Given the description of an element on the screen output the (x, y) to click on. 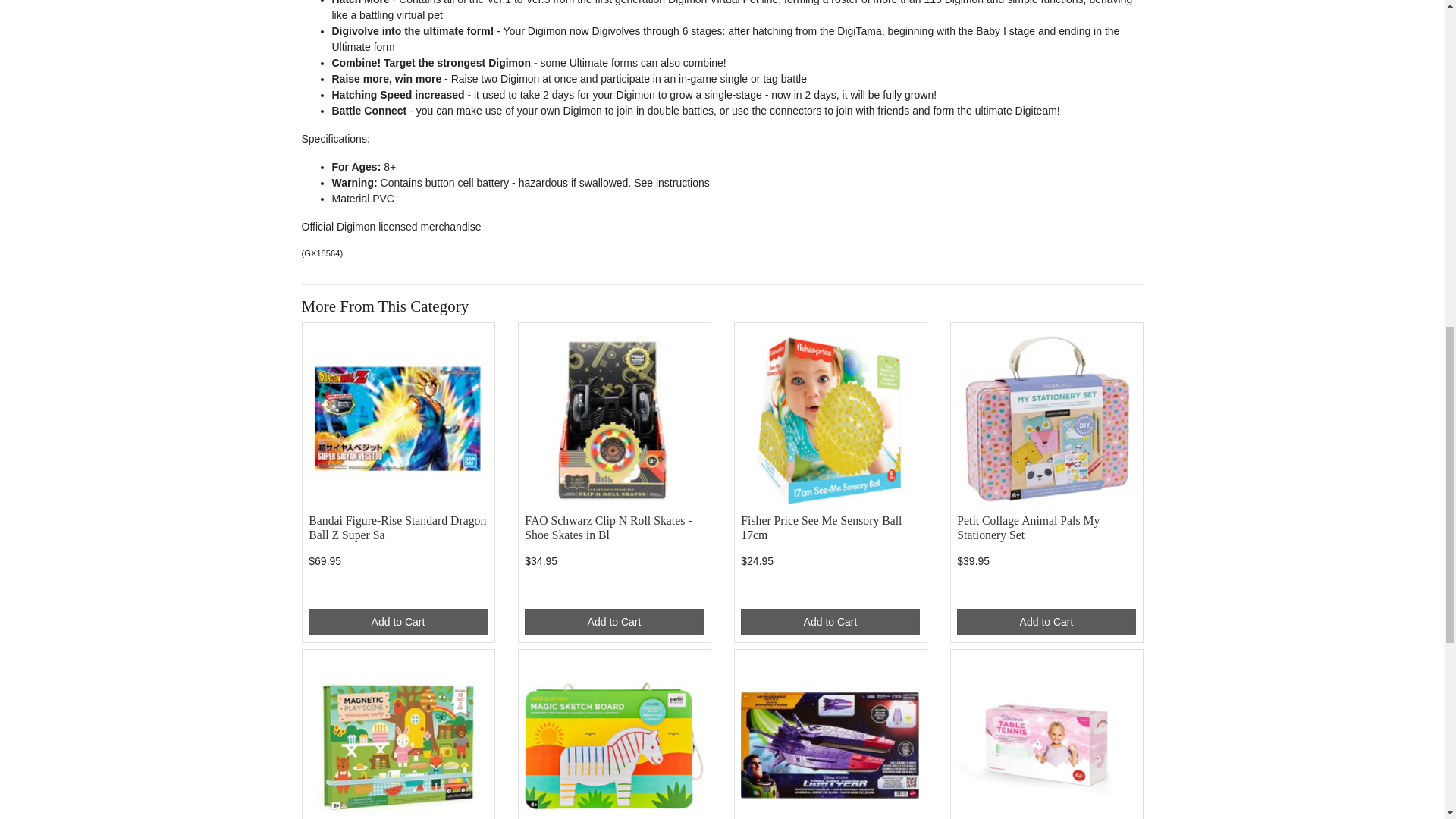
PayPal Message 2 (397, 592)
PayPal Message 5 (1045, 592)
PayPal Message 4 (829, 592)
PayPal Message 3 (613, 592)
Add Fisher Price See Me Sensory Ball 17cm to Cart (829, 622)
Add Petit Collage Animal Pals My Stationery Set to Cart (1045, 622)
